Given the description of an element on the screen output the (x, y) to click on. 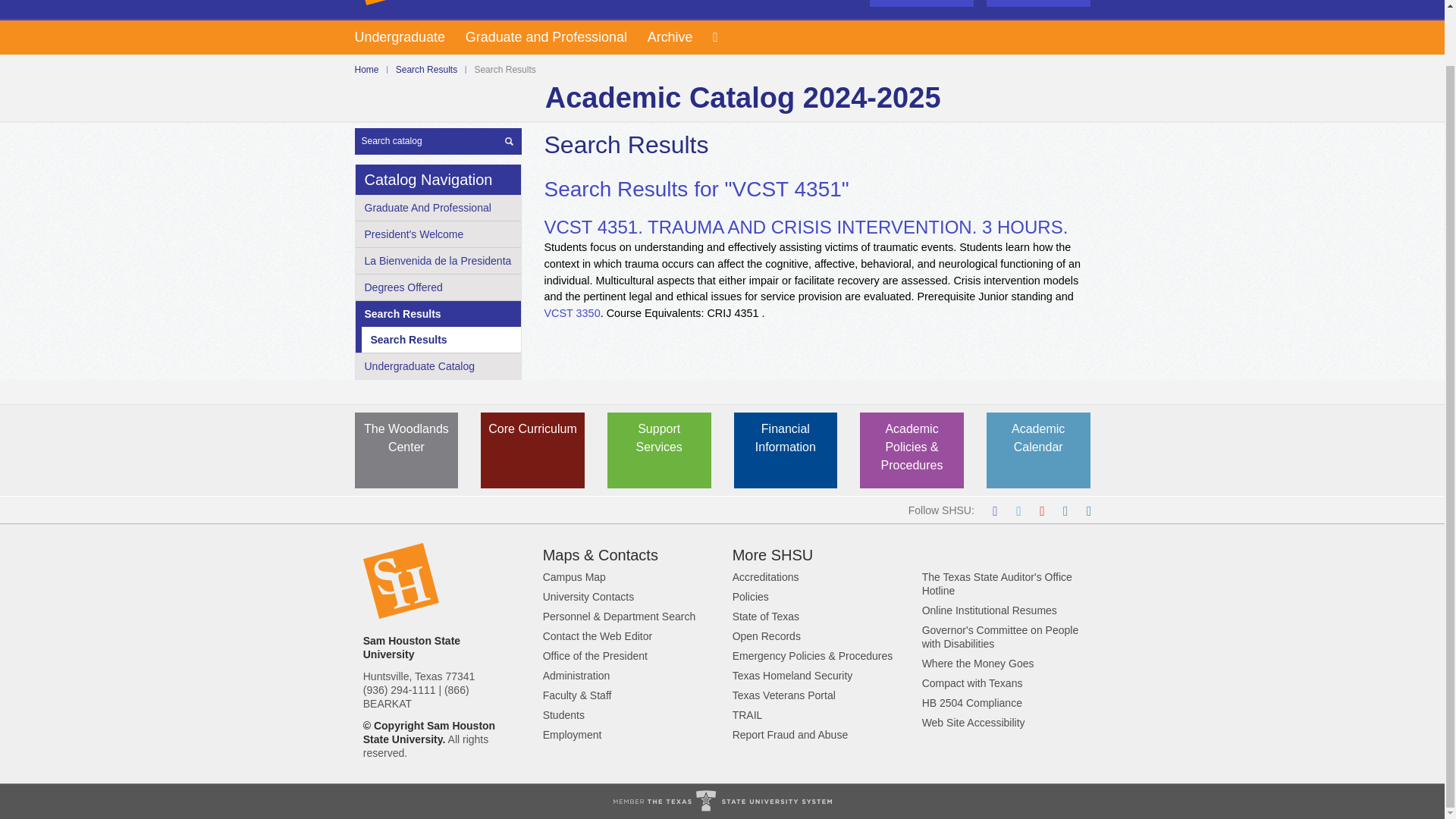
Graduate and Professional (556, 37)
Search Catalog (438, 140)
Search (1037, 3)
Search (509, 141)
Undergraduate (410, 37)
Archive (680, 37)
Home (366, 69)
